Given the description of an element on the screen output the (x, y) to click on. 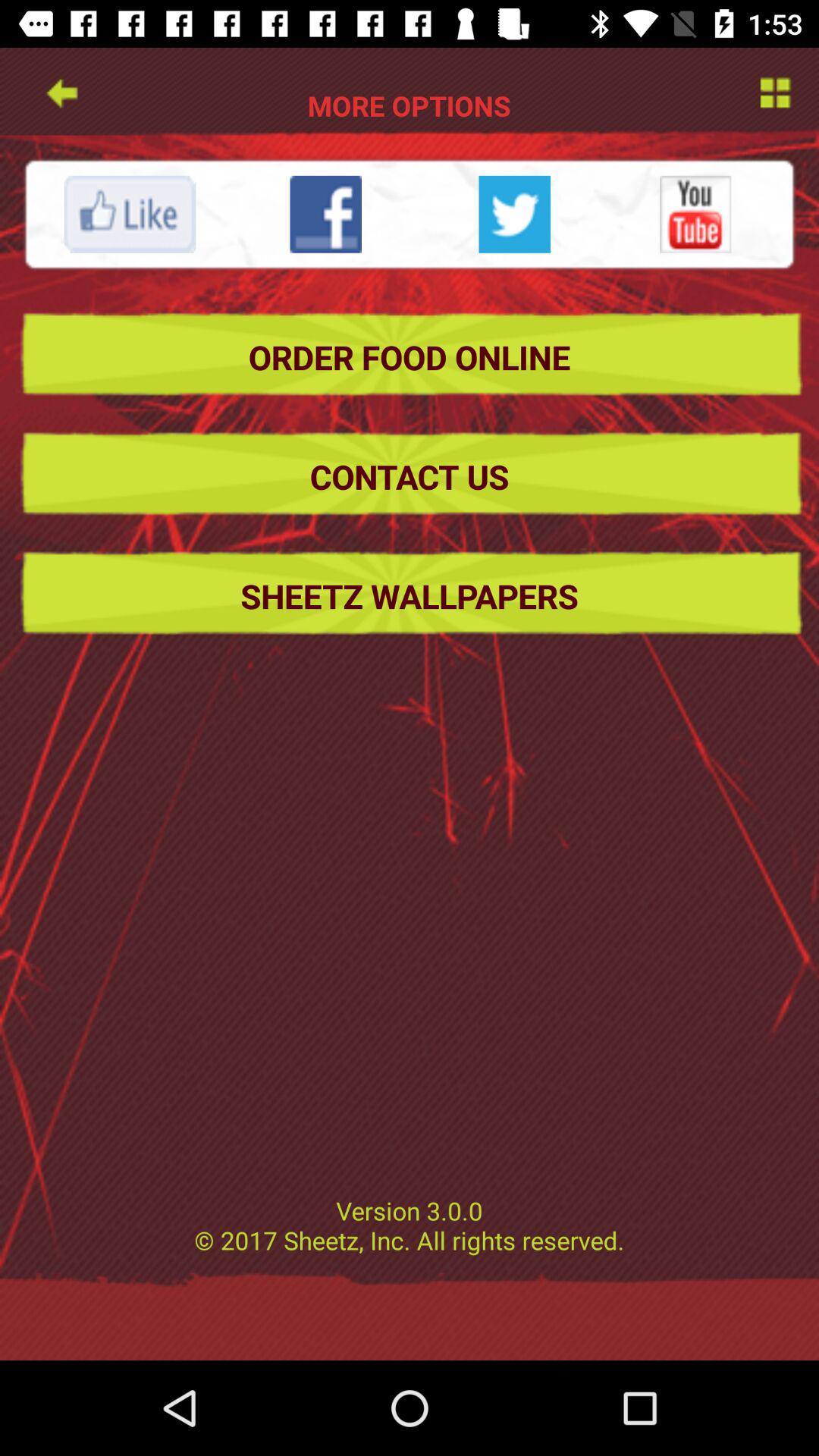
go back (61, 91)
